Given the description of an element on the screen output the (x, y) to click on. 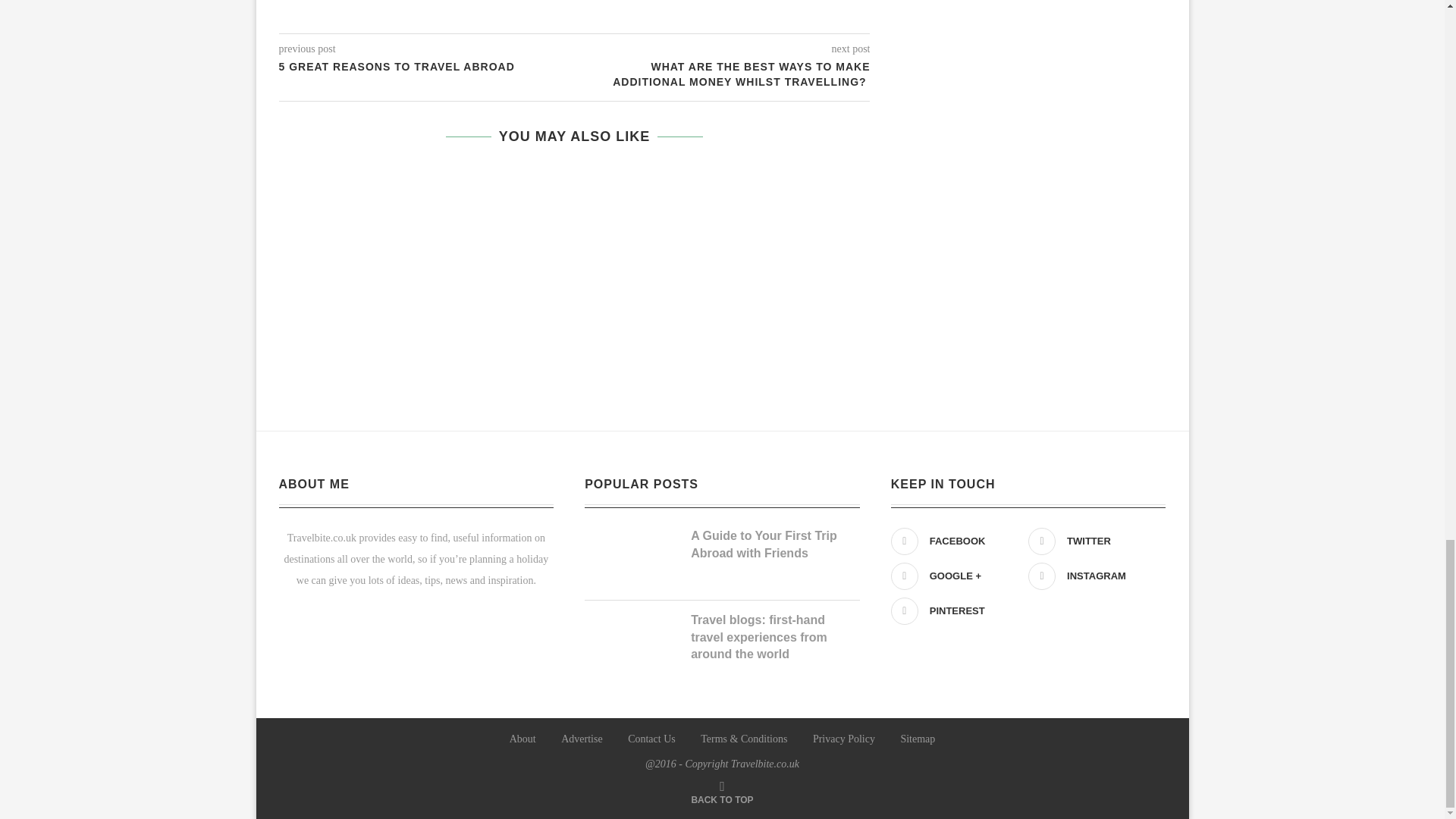
A Guide to Your First Trip Abroad with Friends (775, 544)
A Guide to Your First Trip Abroad with Friends (630, 534)
